Given the description of an element on the screen output the (x, y) to click on. 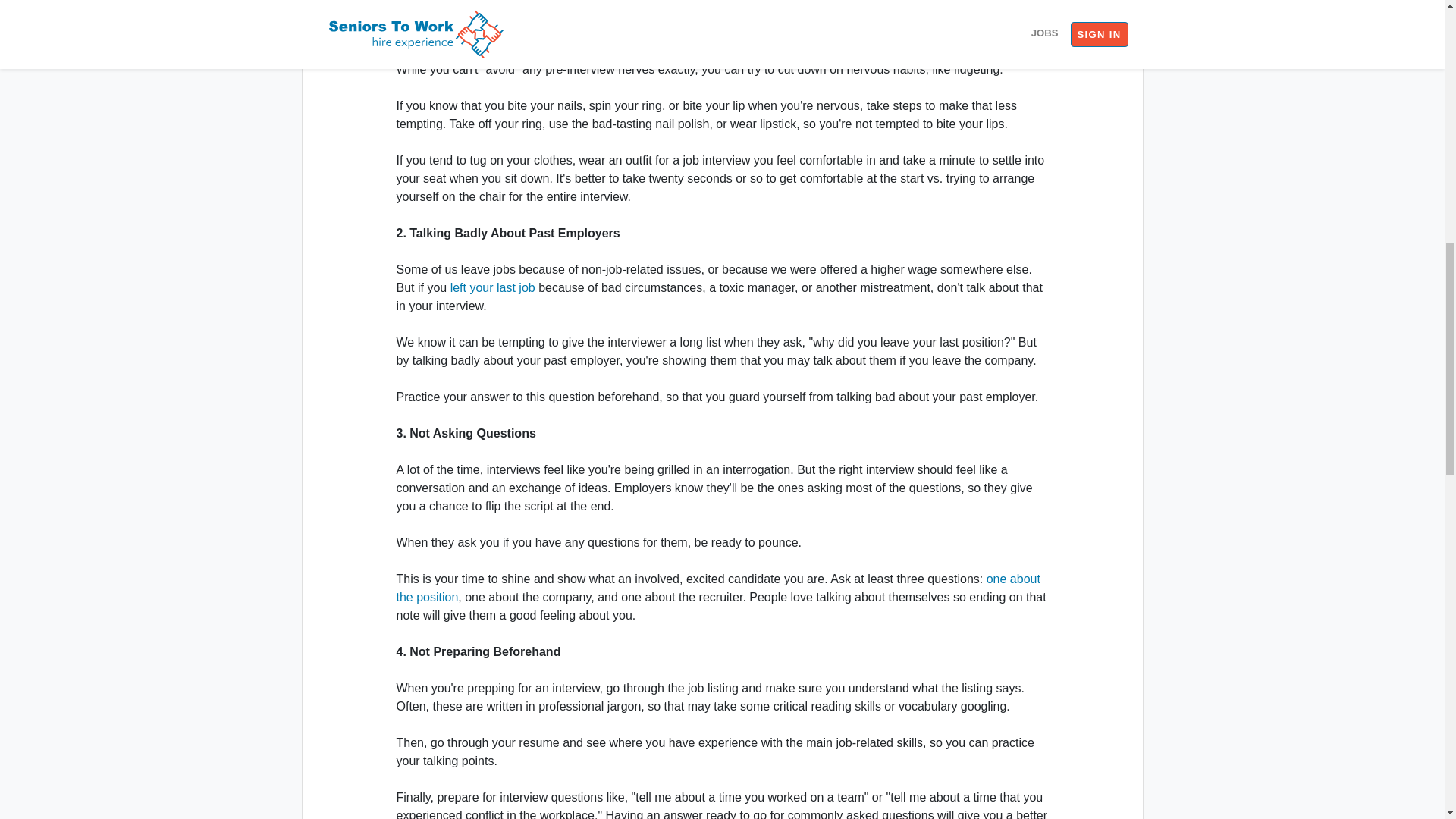
left your last job (492, 287)
